Given the description of an element on the screen output the (x, y) to click on. 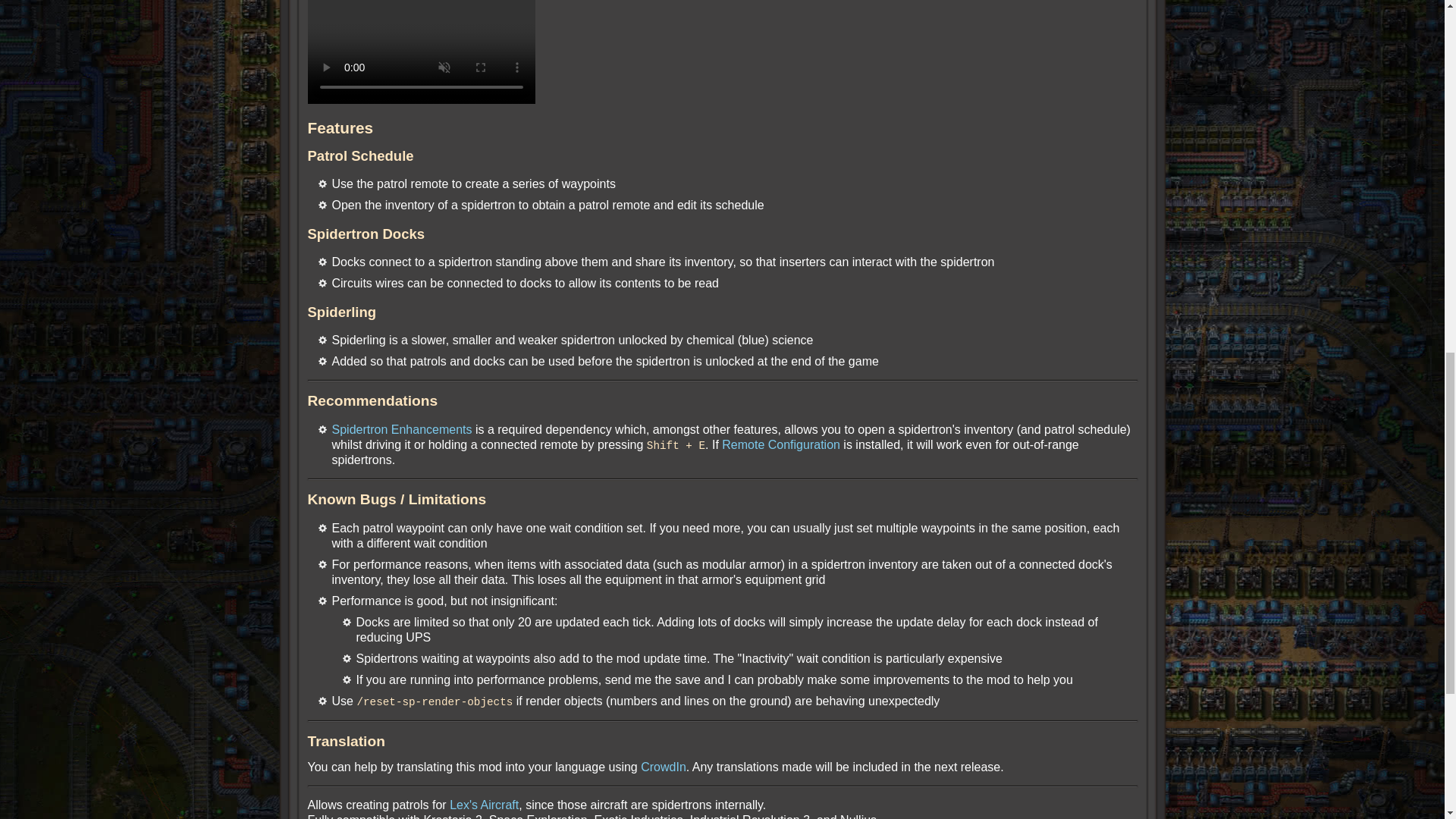
Lex's Aircraft (483, 803)
CrowdIn (662, 766)
Remote Configuration (781, 444)
v2.4.0 patrol remote interaction demo (421, 52)
Spidertron Enhancements (401, 429)
